Given the description of an element on the screen output the (x, y) to click on. 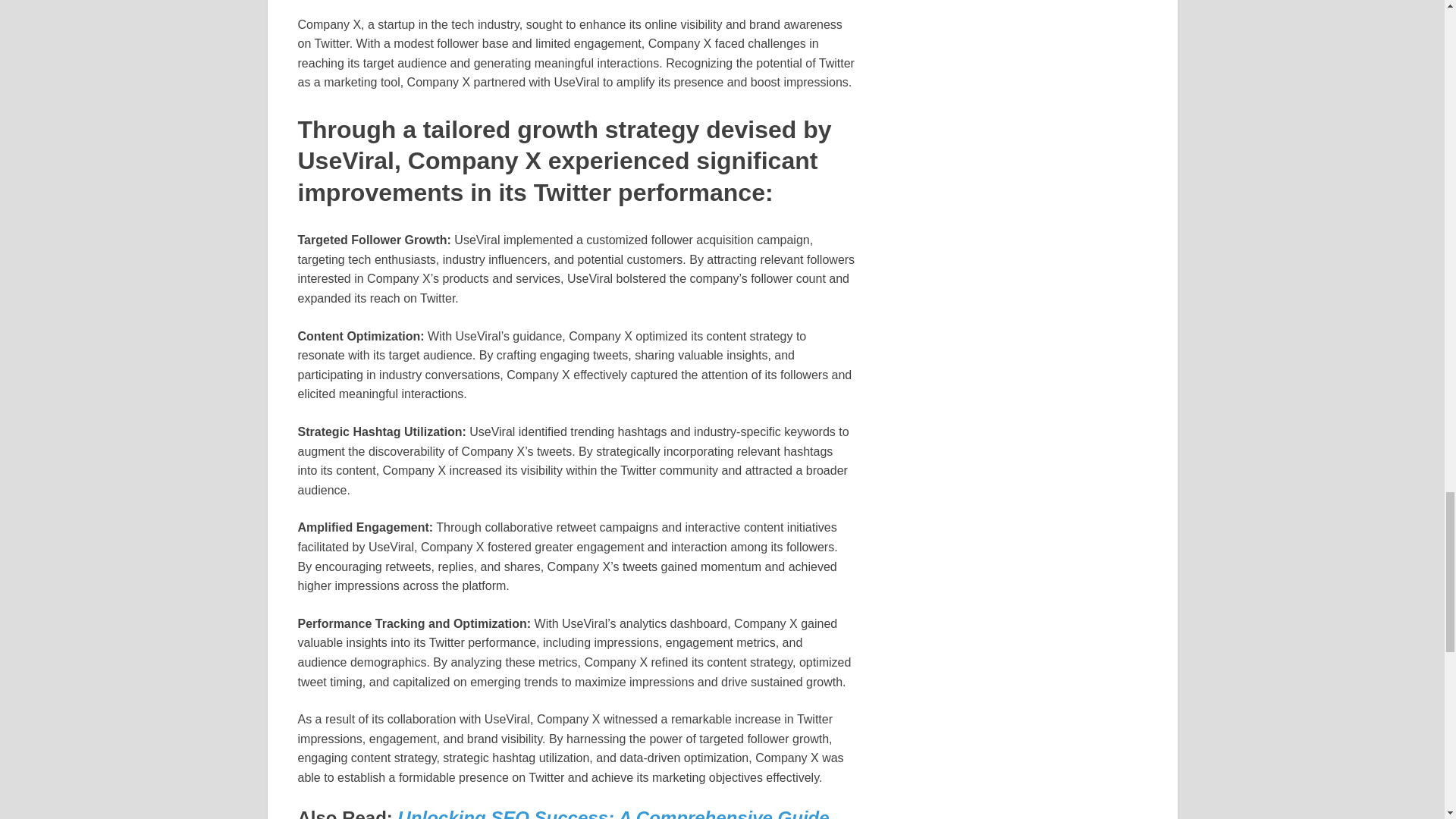
Unlocking SEO Success: A Comprehensive Guide for Beginners (562, 813)
